Given the description of an element on the screen output the (x, y) to click on. 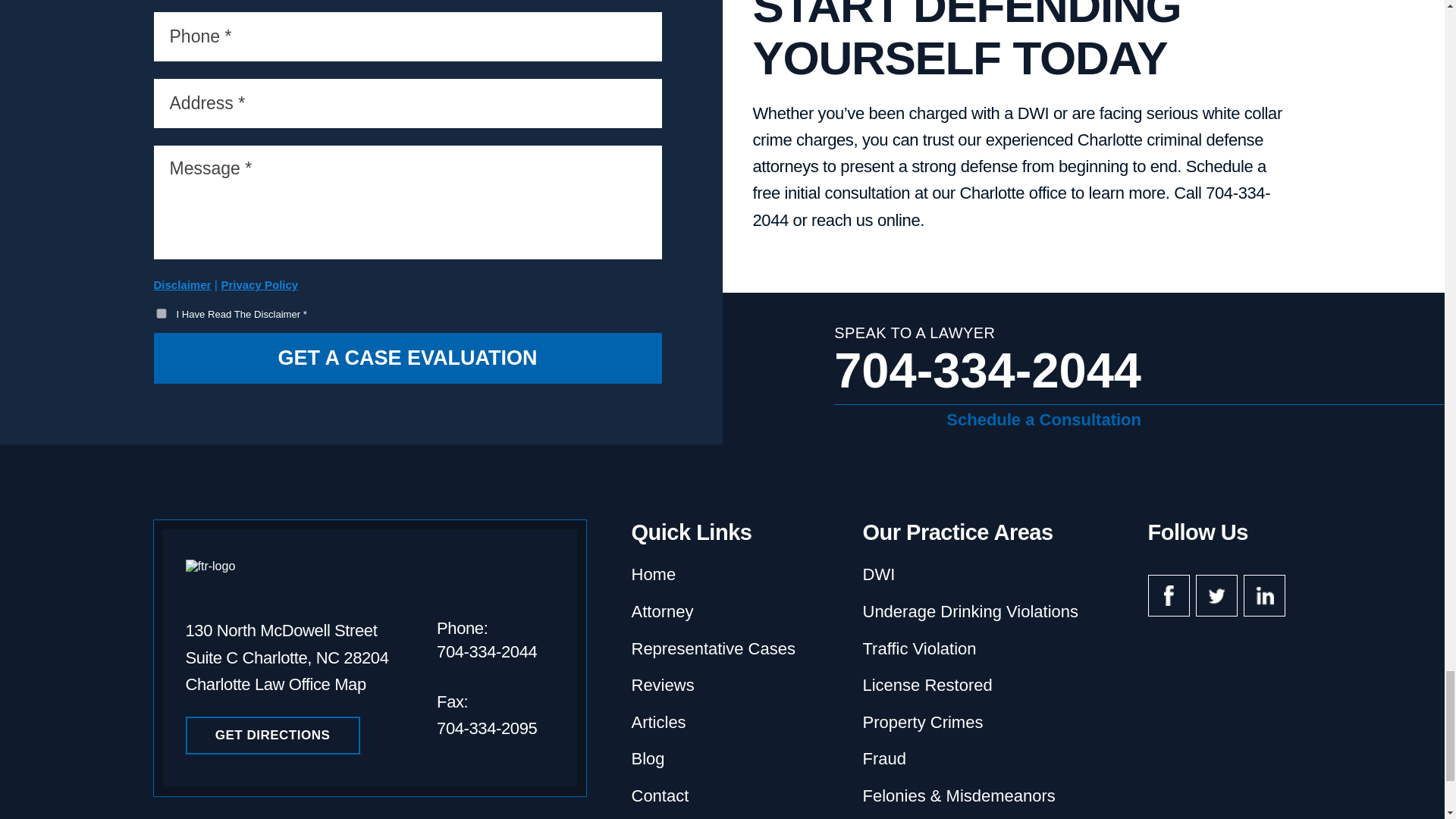
Follow on Twitter (1215, 595)
Follow on Facebook (1168, 595)
Follow on LinkedIn (1264, 595)
Get a case evaluation (406, 358)
